Given the description of an element on the screen output the (x, y) to click on. 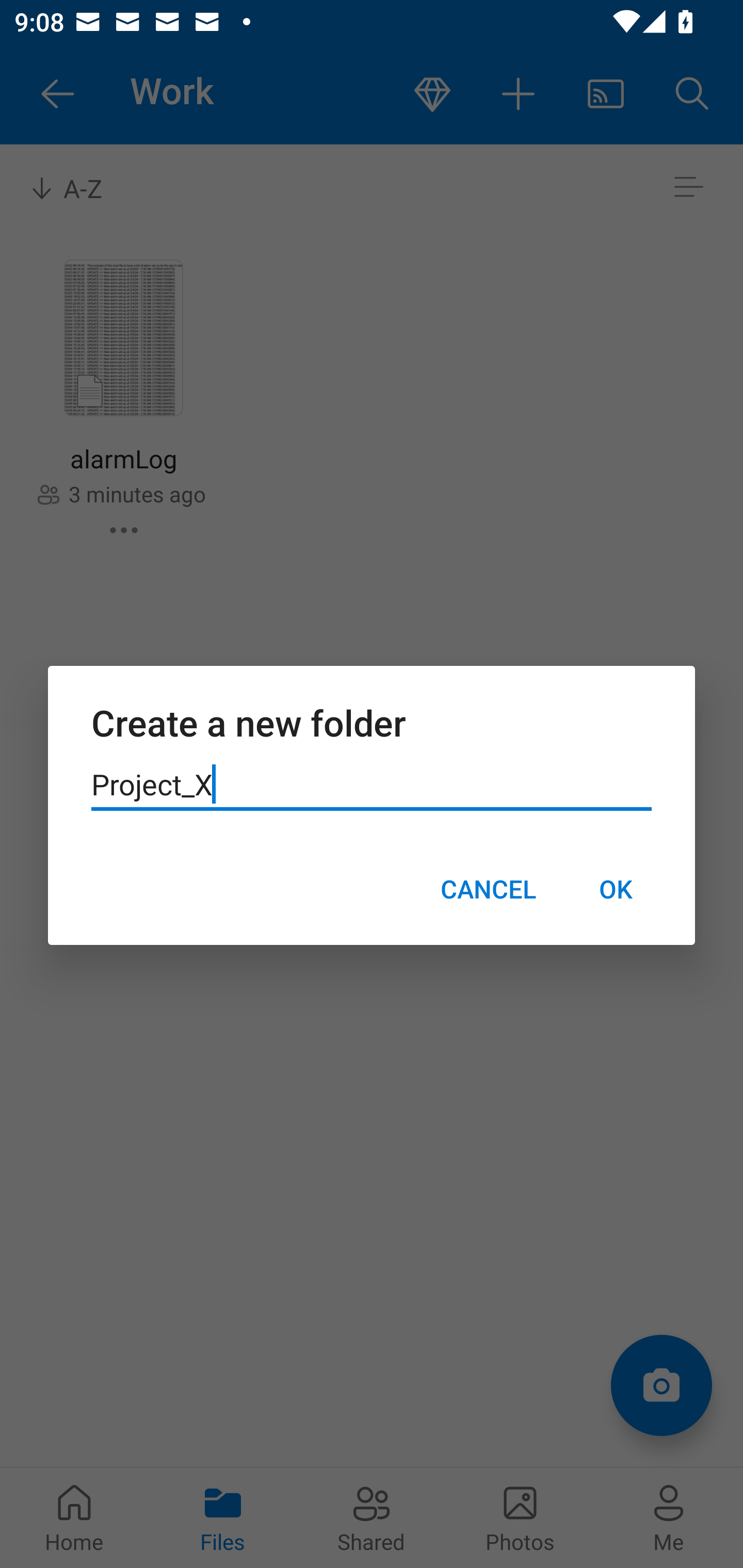
Project_X (371, 784)
CANCEL (488, 888)
OK (615, 888)
